Given the description of an element on the screen output the (x, y) to click on. 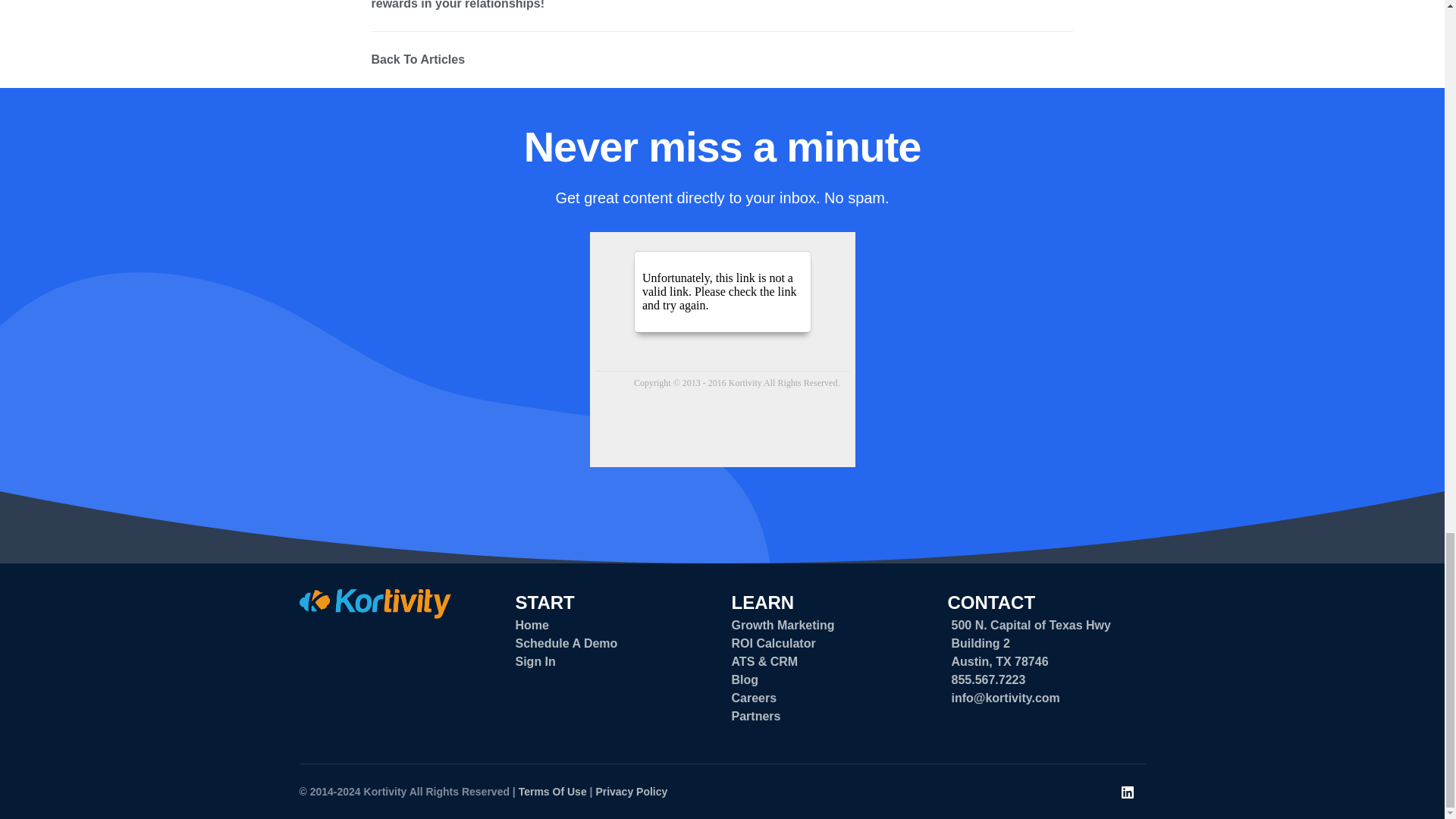
855.567.7223 (987, 679)
ROI Calculator (772, 643)
Home (531, 625)
Back To Articles (418, 59)
Careers (753, 697)
Partners (755, 716)
Privacy Policy (630, 791)
Blog (744, 679)
Terms Of Use (552, 791)
Growth Marketing (782, 625)
